Given the description of an element on the screen output the (x, y) to click on. 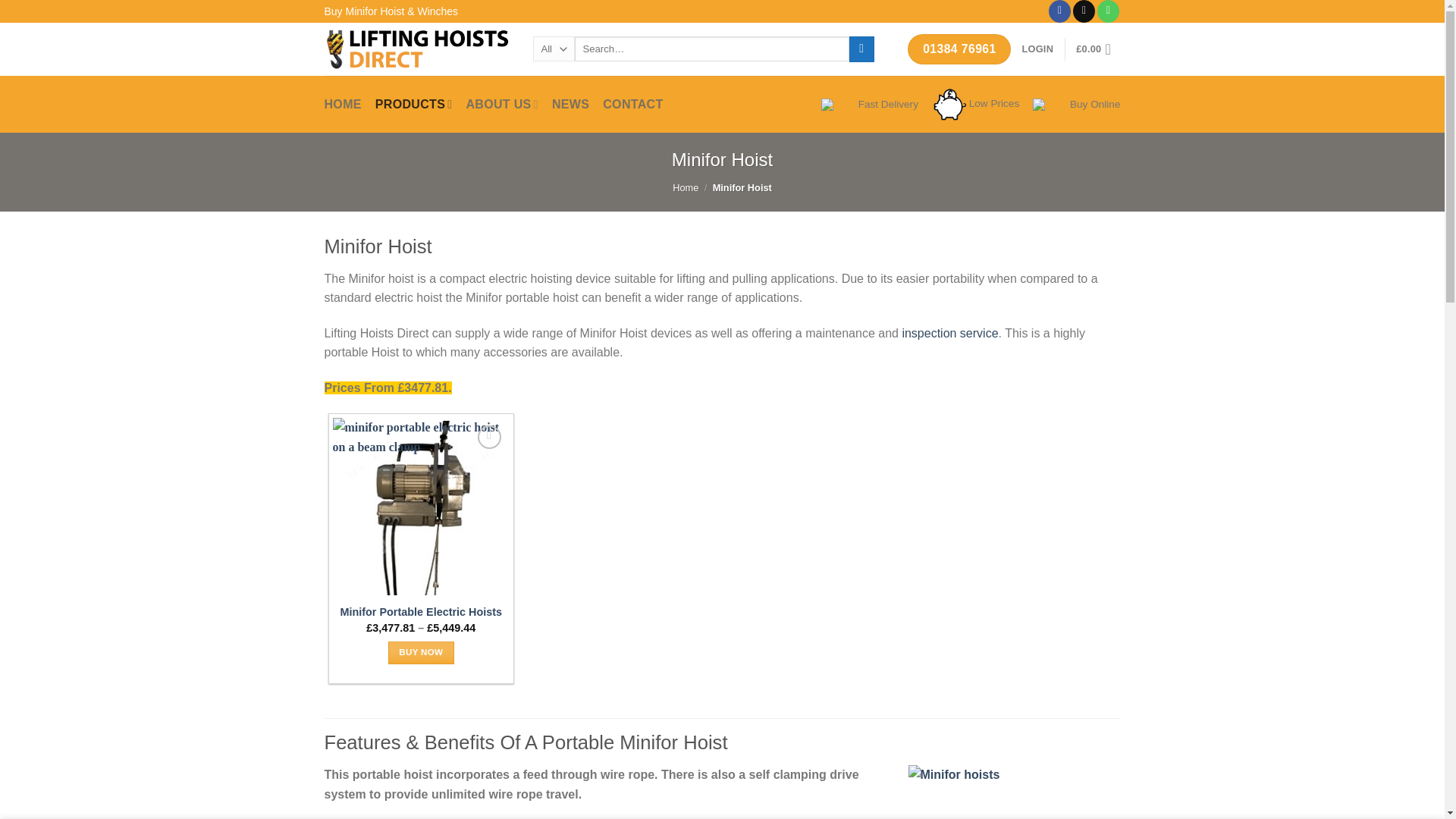
Search (861, 49)
Send us an email (1083, 11)
Login (1037, 49)
ABOUT US (501, 104)
PRODUCTS (413, 104)
Follow on Facebook (1059, 11)
Lifting Hoists Direct - Hoisting Equipment Direct To You! (417, 48)
Cart (1097, 49)
Call us (1108, 11)
LOGIN (1037, 49)
